Given the description of an element on the screen output the (x, y) to click on. 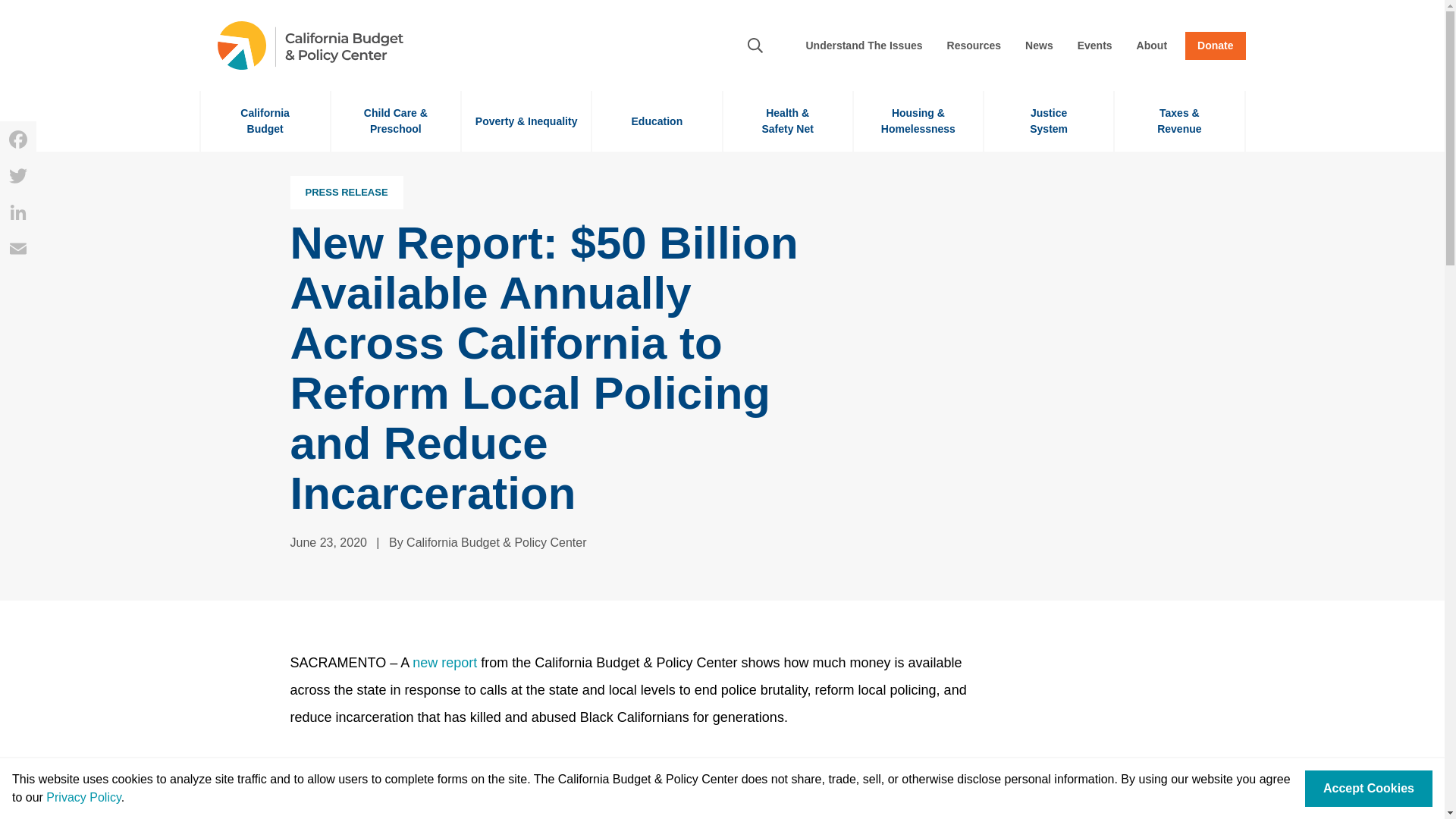
Events (1048, 120)
LinkedIn (1094, 45)
Resources (18, 212)
Email (973, 45)
Understand The Issues (18, 248)
Donate (863, 45)
Education (1214, 45)
Facebook (656, 120)
Twitter (18, 139)
News (18, 176)
About (1039, 45)
